Given the description of an element on the screen output the (x, y) to click on. 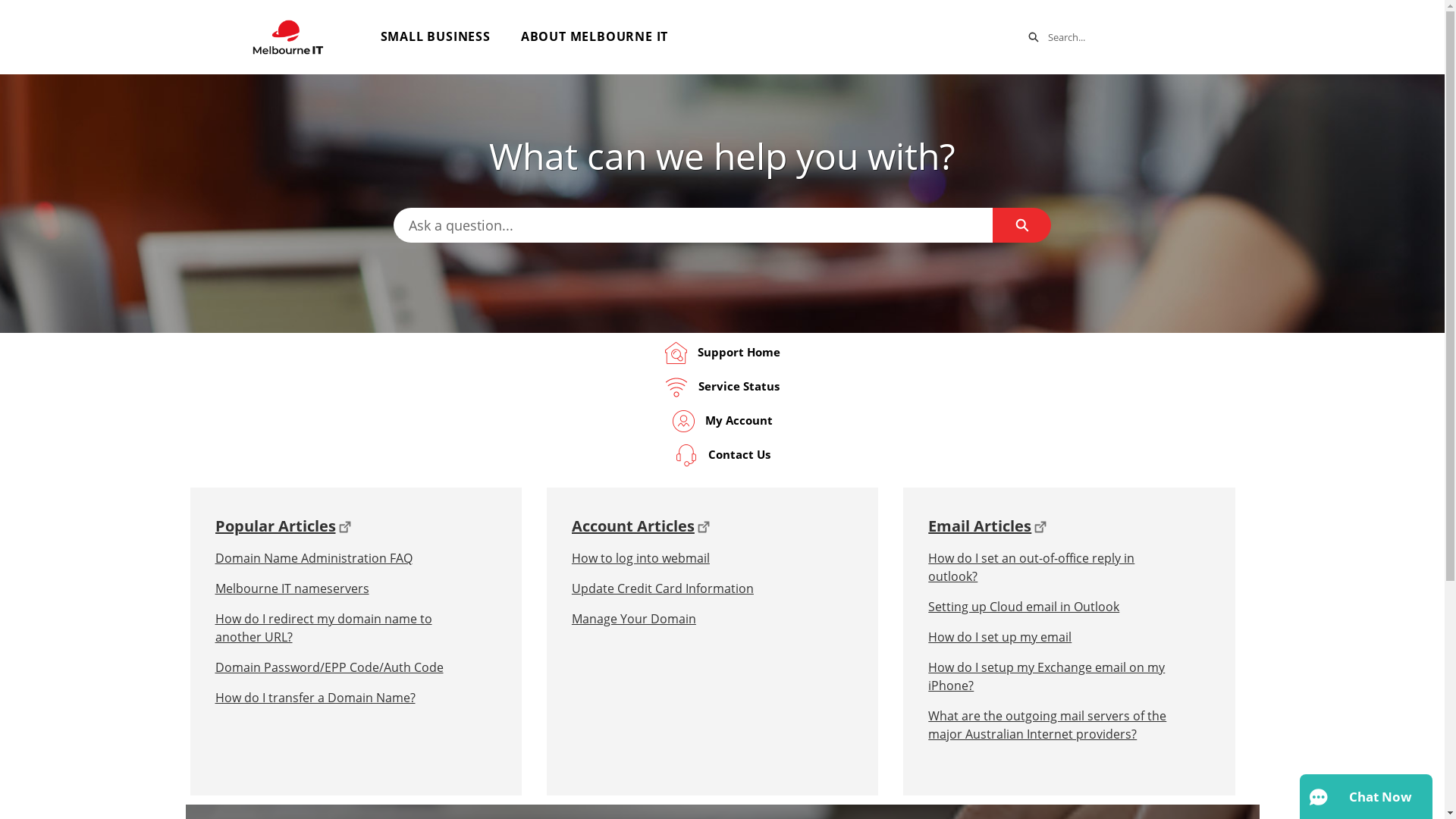
Popular Articles Element type: text (275, 525)
How to log into webmail Element type: text (697, 557)
Setting up Cloud email in Outlook Element type: text (1053, 606)
Melbourne IT nameservers Element type: text (341, 588)
My Account Element type: text (721, 427)
Support Home Element type: text (721, 359)
MelbourneIT Support Element type: text (287, 36)
Email Articles Element type: text (979, 525)
How do I setup my Exchange email on my iPhone? Element type: text (1053, 676)
ABOUT MELBOURNE IT Element type: text (594, 36)
Update Credit Card Information Element type: text (697, 588)
SMALL BUSINESS Element type: text (434, 36)
Search Element type: text (1033, 36)
Domain Password/EPP Code/Auth Code Element type: text (341, 667)
Manage Your Domain Element type: text (697, 618)
How do I set up my email Element type: text (1053, 636)
How do I set an out-of-office reply in outlook? Element type: text (1053, 566)
How do I redirect my domain name to another URL? Element type: text (341, 627)
Domain Name Administration FAQ Element type: text (341, 557)
Contact Us Element type: text (721, 461)
Service Status Element type: text (721, 393)
Search Element type: text (1021, 224)
Skip to Main Content Element type: text (9, 4)
How do I transfer a Domain Name? Element type: text (341, 697)
Account Articles Element type: text (632, 525)
